Given the description of an element on the screen output the (x, y) to click on. 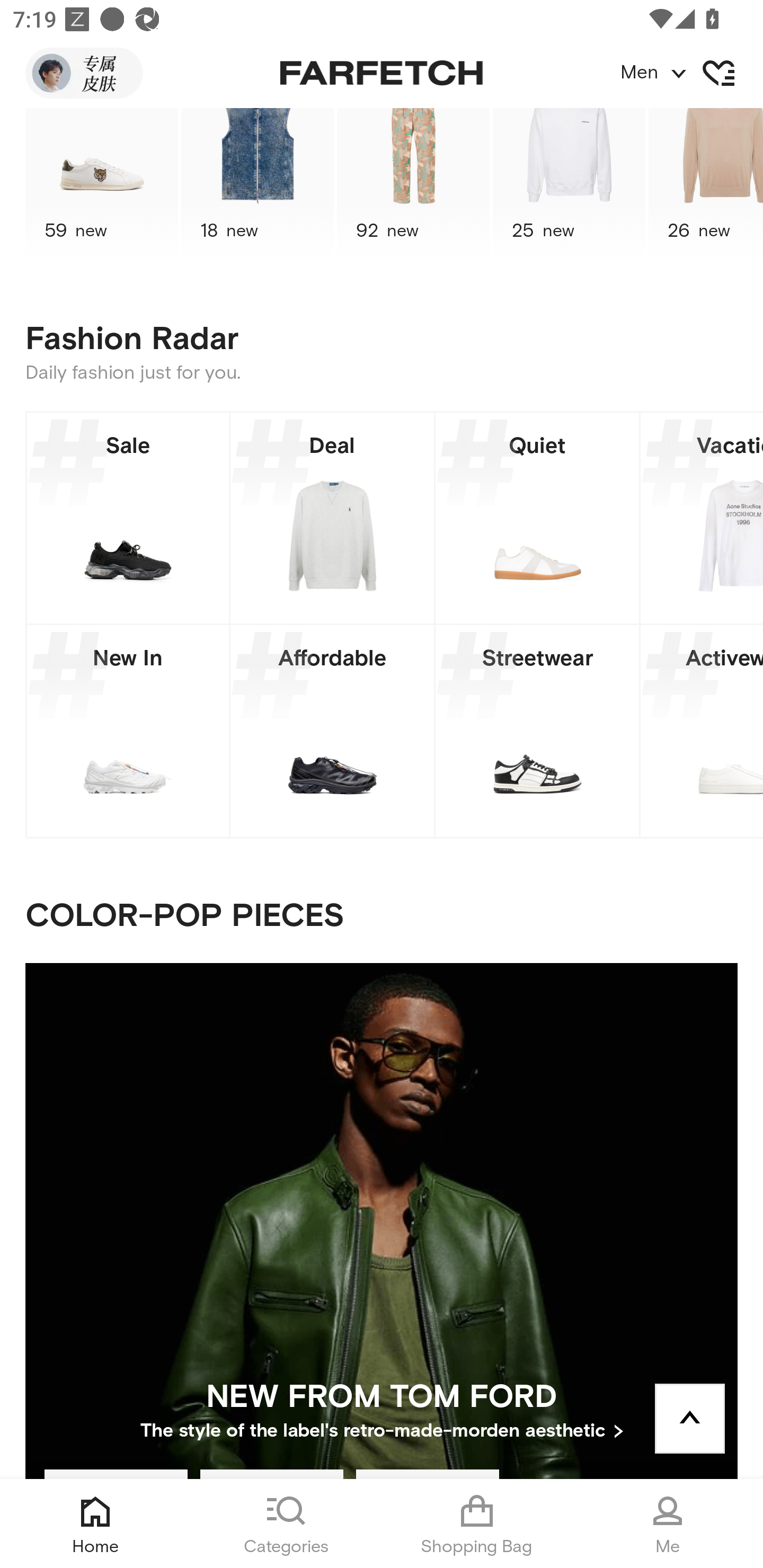
Men (691, 72)
Polo Ralph Lauren 59  new (101, 184)
Diesel 18  new (257, 184)
Acne Studios 92  new (413, 184)
Stone Island 25  new (568, 184)
Brunello Cucinelli 26  new (705, 184)
Sale (127, 518)
Deal (332, 518)
Quiet (537, 518)
Vacation (701, 518)
New In (127, 731)
Affordable (332, 731)
Streetwear (537, 731)
Activewear (701, 731)
Categories (285, 1523)
Shopping Bag (476, 1523)
Me (667, 1523)
